Given the description of an element on the screen output the (x, y) to click on. 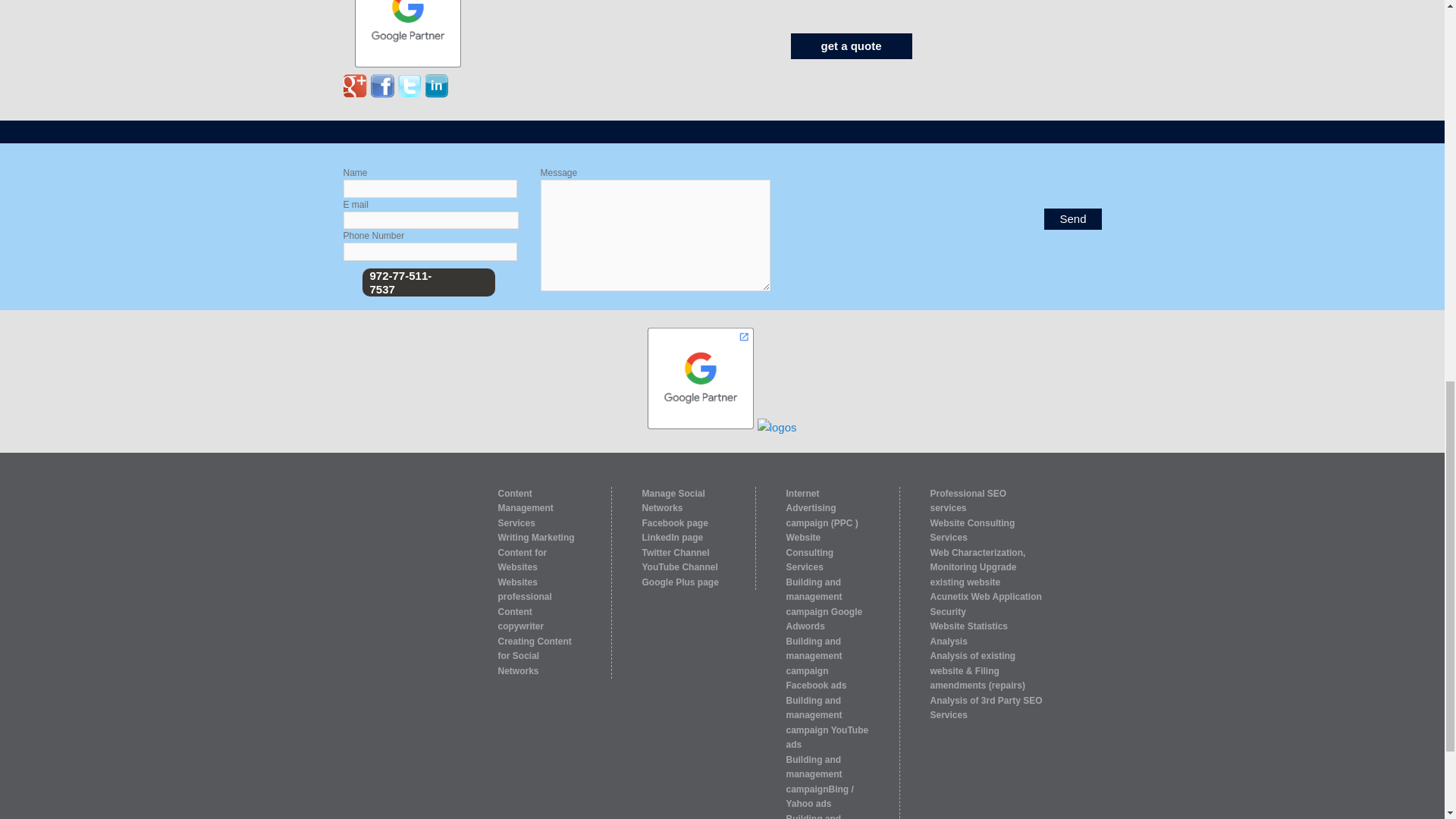
Professional SEO services (968, 501)
Website Consulting Services (972, 529)
Acunetix Web Application Security (985, 604)
972-77-511-7537 (400, 282)
Analysis of 3rd Party SEO Services (986, 707)
get a quote (850, 45)
Send (1071, 219)
logos (776, 427)
Send (1071, 219)
Web Characterization, Monitoring Upgrade existing website (977, 567)
